Given the description of an element on the screen output the (x, y) to click on. 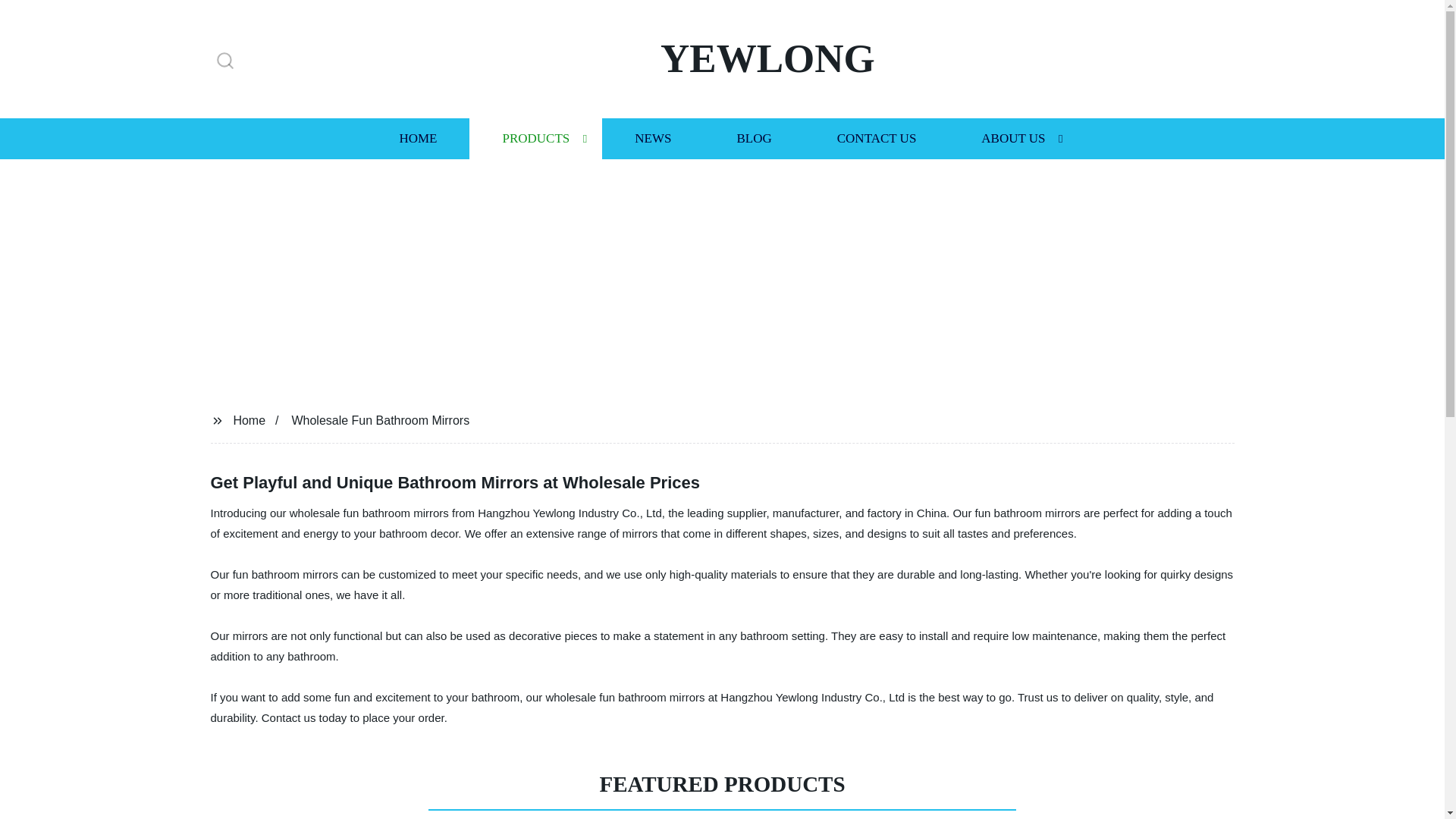
BLOG (753, 137)
ABOUT US (1013, 137)
NEWS (652, 137)
Home (248, 420)
HOME (417, 137)
Wholesale Fun Bathroom Mirrors (379, 420)
PRODUCTS (535, 137)
CONTACT US (877, 137)
